Given the description of an element on the screen output the (x, y) to click on. 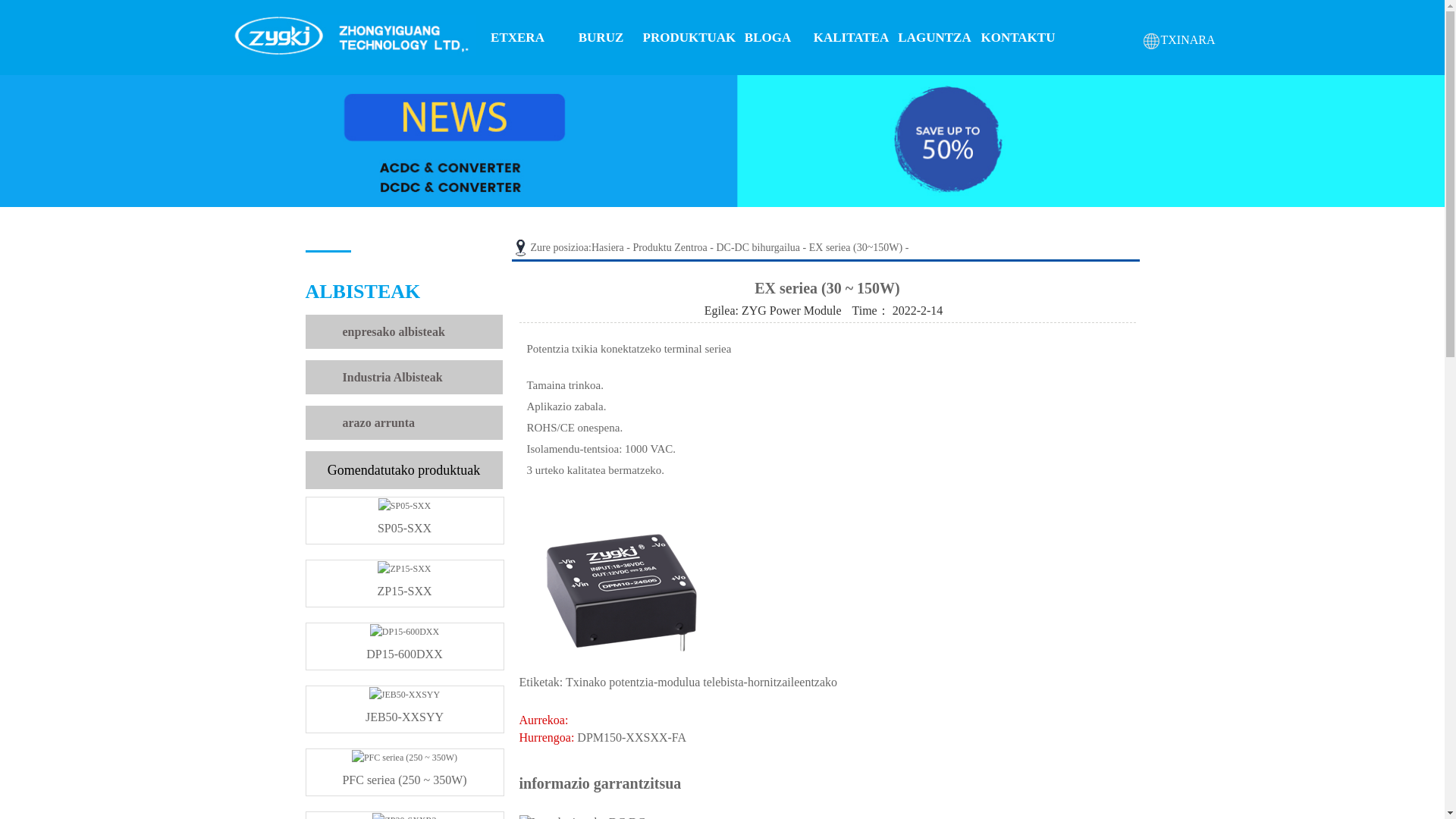
PRODUKTUAK (684, 37)
ZP15-SXX (404, 584)
DPM150-XXSXX-FA (630, 737)
enpresako albisteak (393, 331)
DP15-600DXX (404, 647)
ZP20-SXXR2 (404, 816)
Produktu Zentroa (668, 247)
TXINARA (1178, 39)
ZP15-SXX (404, 584)
arazo arrunta (378, 422)
ZP20-SXXR2 (404, 816)
SP05-SXX (404, 521)
LAGUNTZA (934, 37)
KONTAKTU (1017, 37)
Hasiera (607, 247)
